Given the description of an element on the screen output the (x, y) to click on. 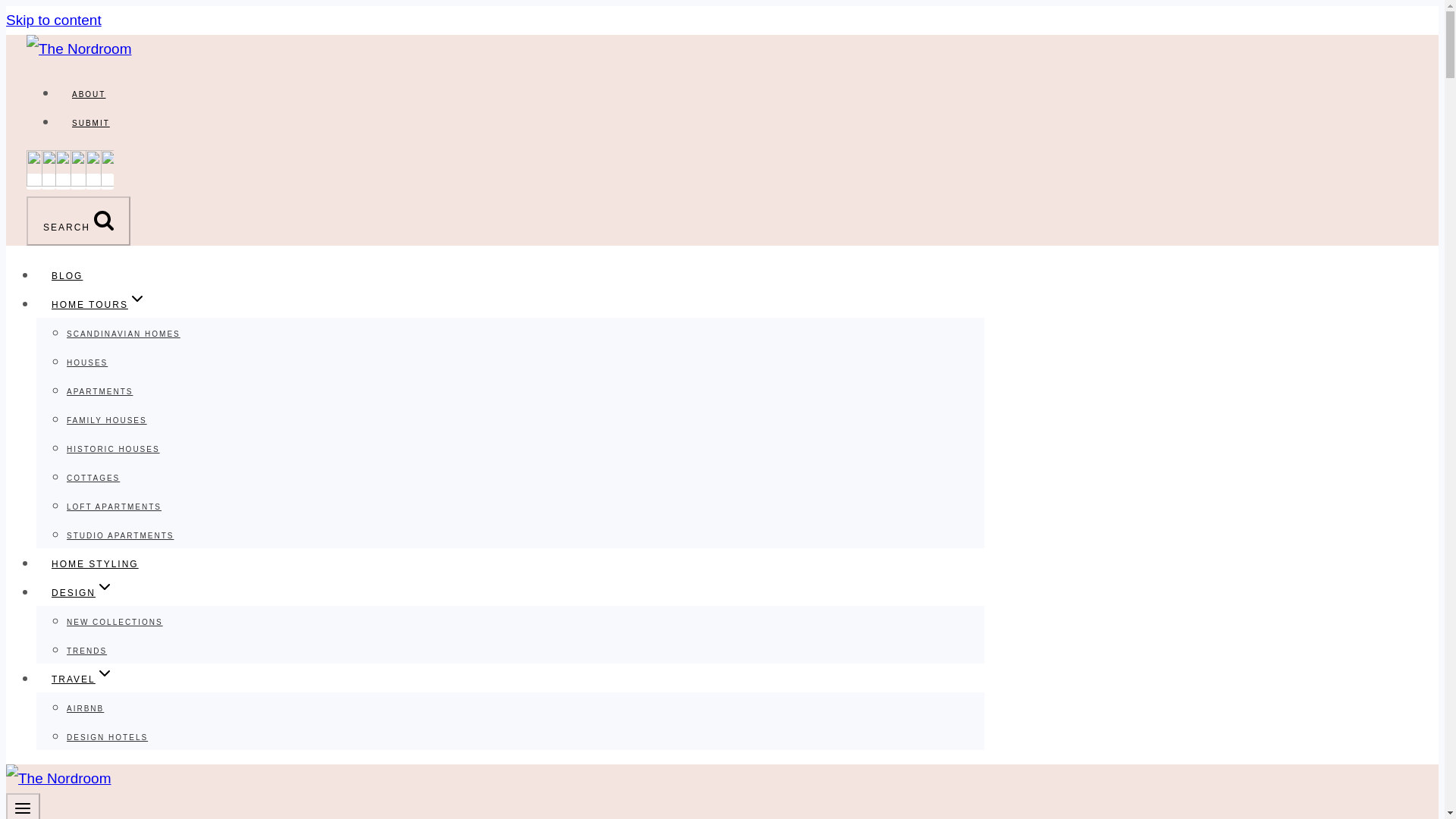
HOUSES (86, 362)
NEW COLLECTIONS (114, 622)
DESIGN HOTELS (107, 736)
Skip to content (53, 19)
HOME TOURSEXPAND (98, 304)
HOME STYLING (95, 563)
TRAVELEXPAND (82, 679)
Skip to content (53, 19)
COTTAGES (92, 477)
SUBMIT (90, 122)
STUDIO APARTMENTS (119, 535)
EXPAND (104, 587)
LOFT APARTMENTS (113, 506)
TOGGLE MENU (22, 806)
AIRBNB (84, 707)
